Given the description of an element on the screen output the (x, y) to click on. 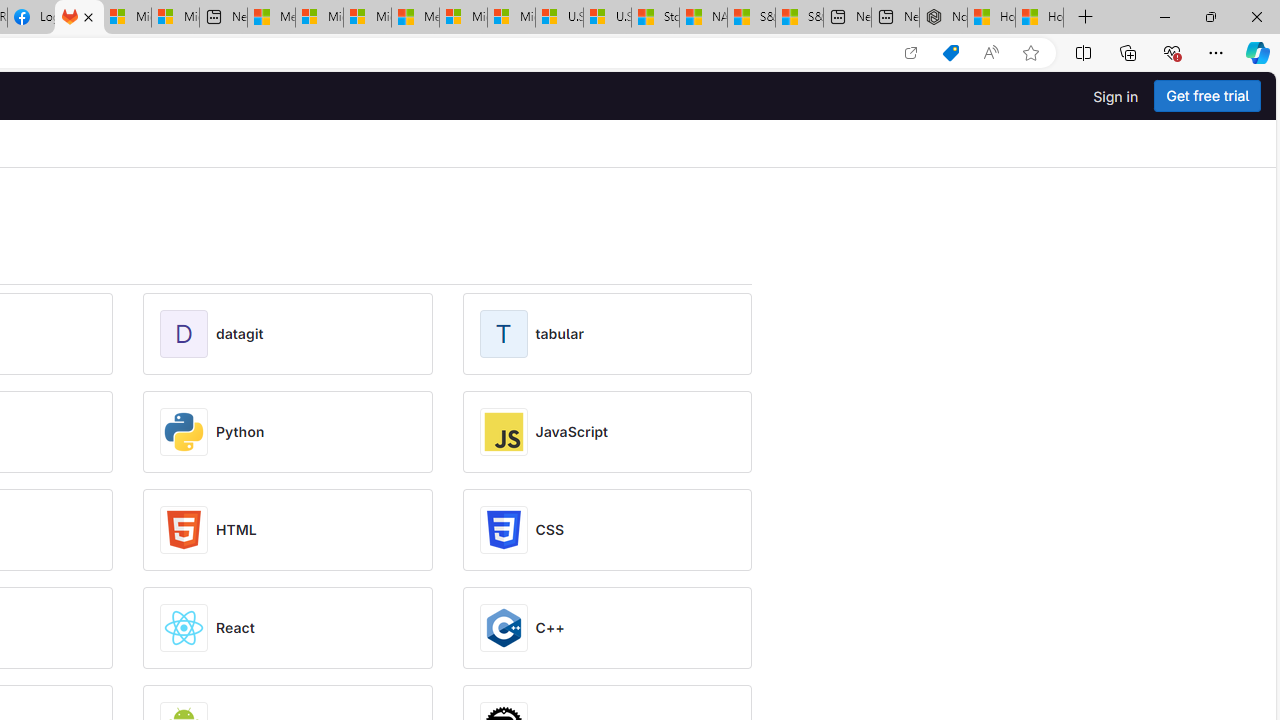
Get free trial (1207, 95)
React (235, 628)
Microsoft account | Privacy (319, 17)
CSS (549, 529)
Open in app (910, 53)
T (507, 334)
S&P 500, Nasdaq end lower, weighed by Nvidia dip | Watch (799, 17)
Microsoft account | Home (367, 17)
tabular (559, 333)
